Given the description of an element on the screen output the (x, y) to click on. 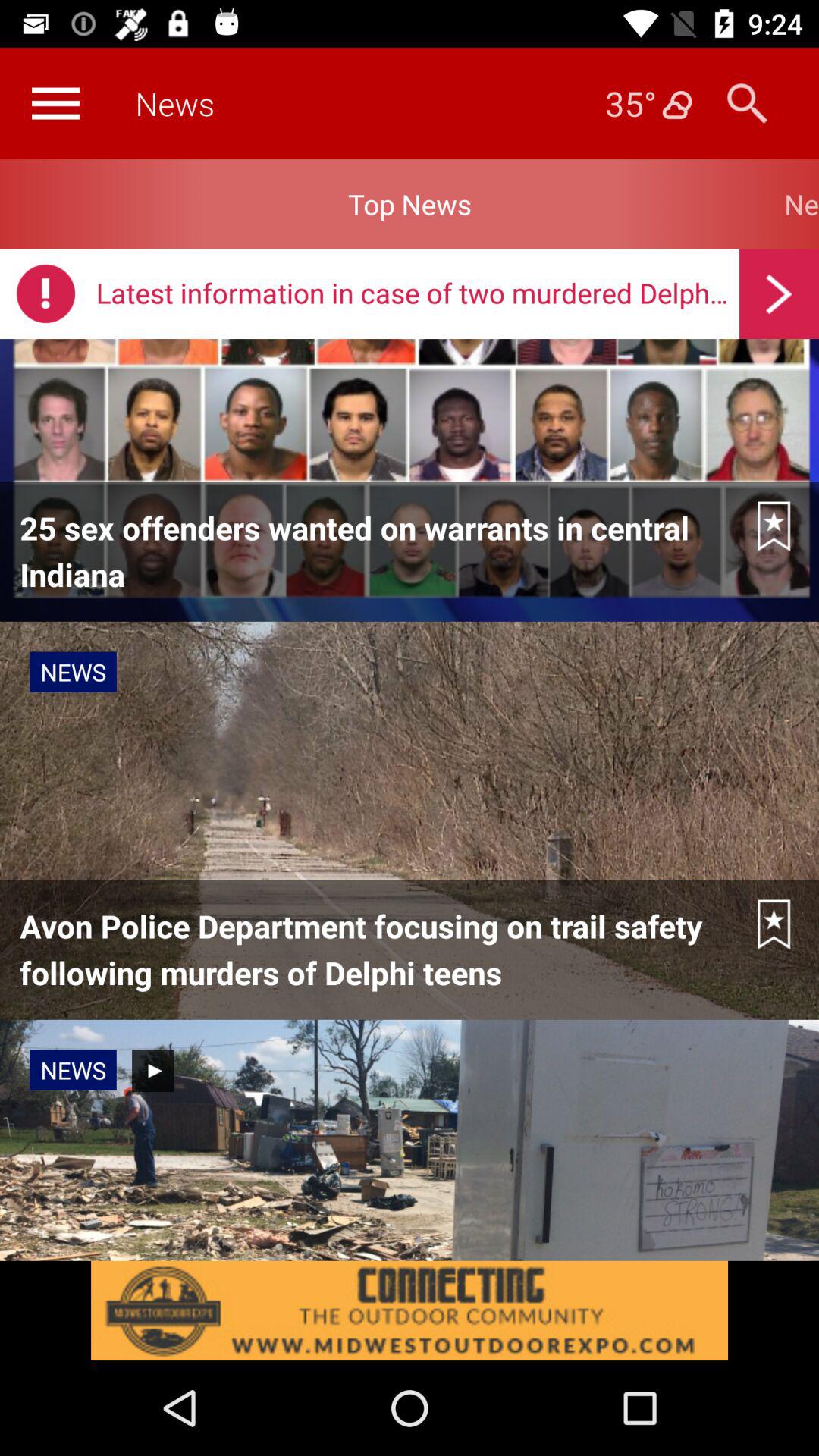
advertisement banner (409, 1310)
